Given the description of an element on the screen output the (x, y) to click on. 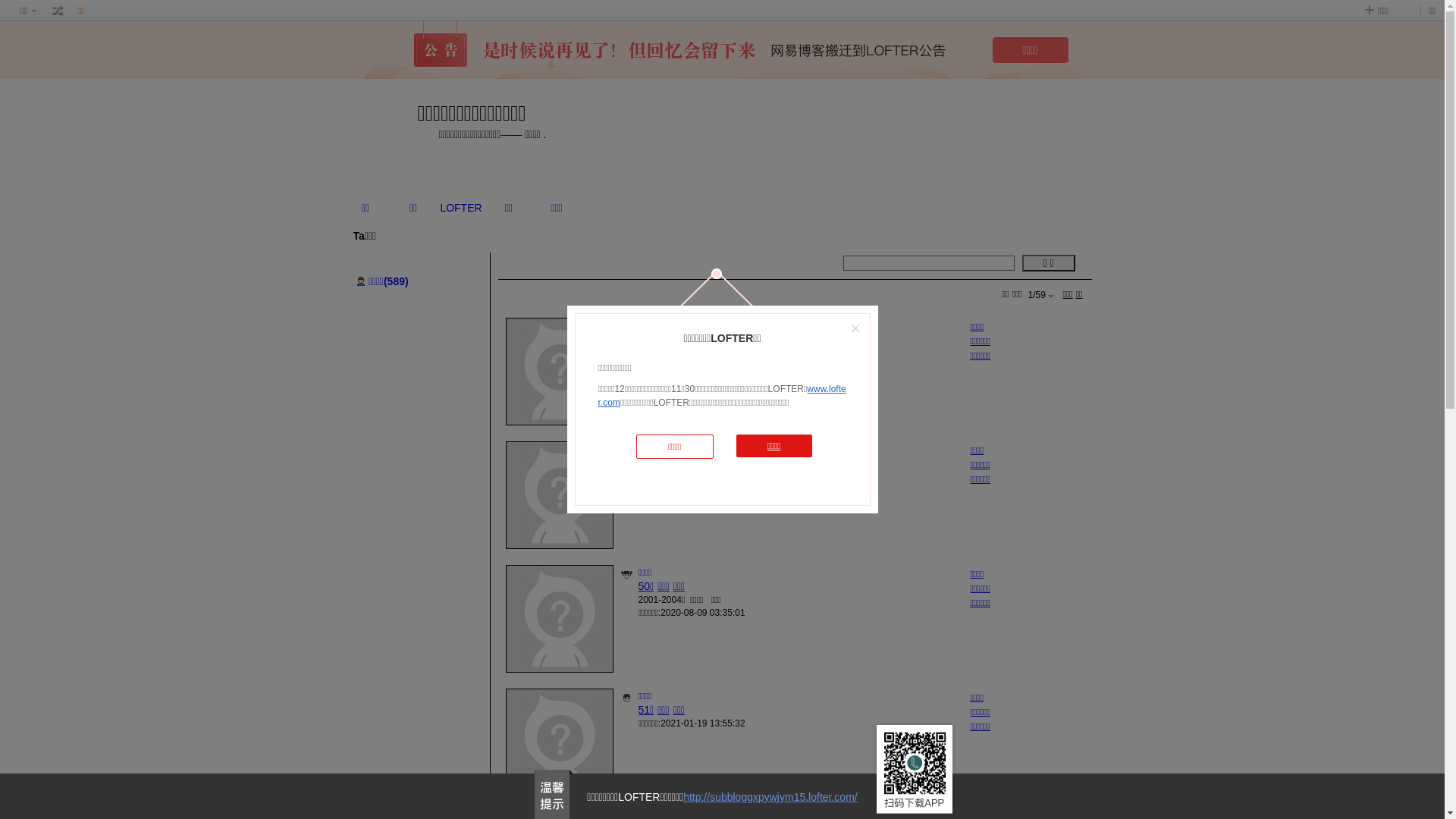
LOFTER Element type: text (460, 207)
www.lofter.com Element type: text (721, 395)
  Element type: text (58, 10)
http://subbloggxpywjym15.lofter.com/ Element type: text (770, 796)
